Given the description of an element on the screen output the (x, y) to click on. 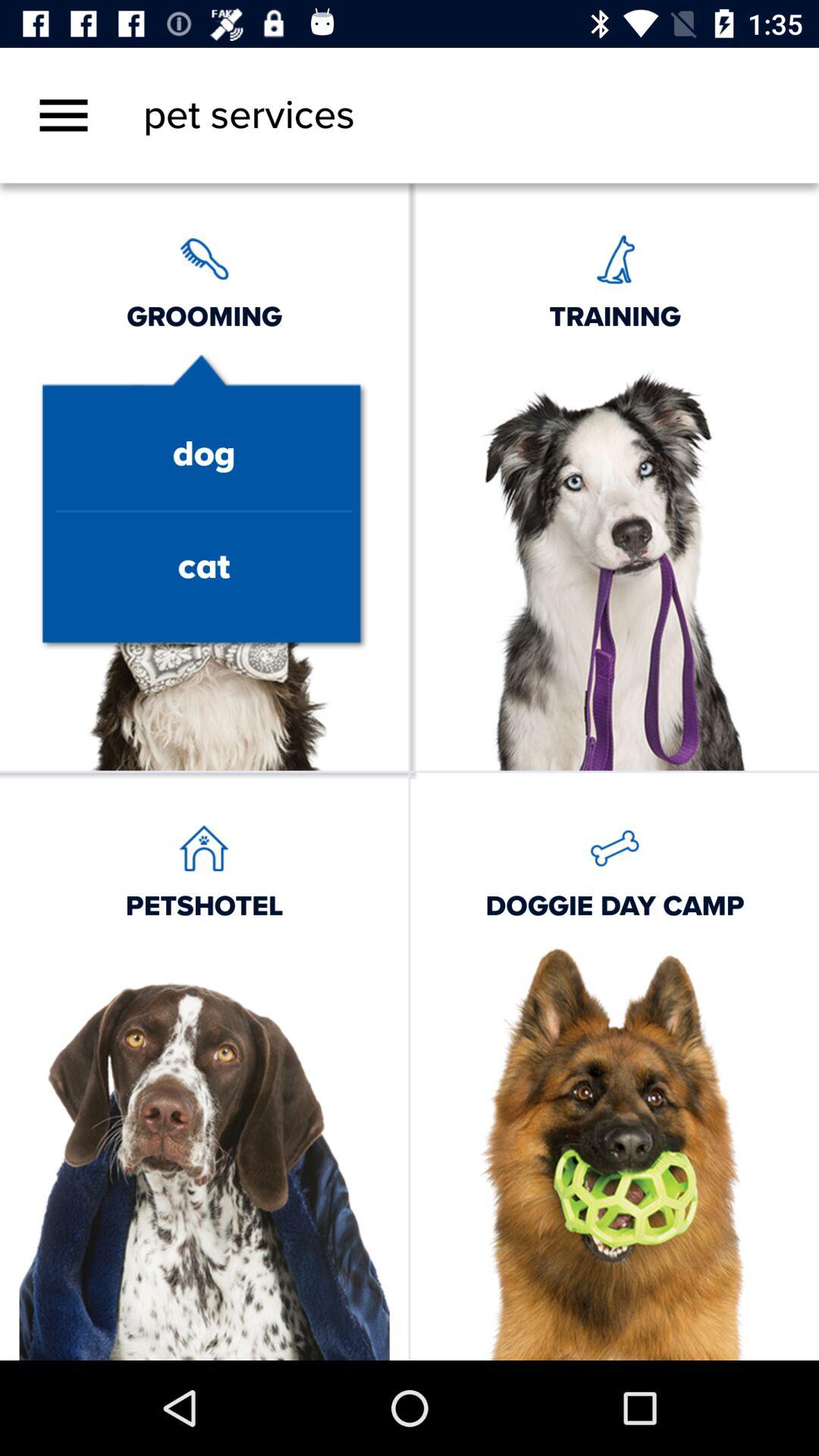
turn on the item to the left of the pet services (63, 115)
